Given the description of an element on the screen output the (x, y) to click on. 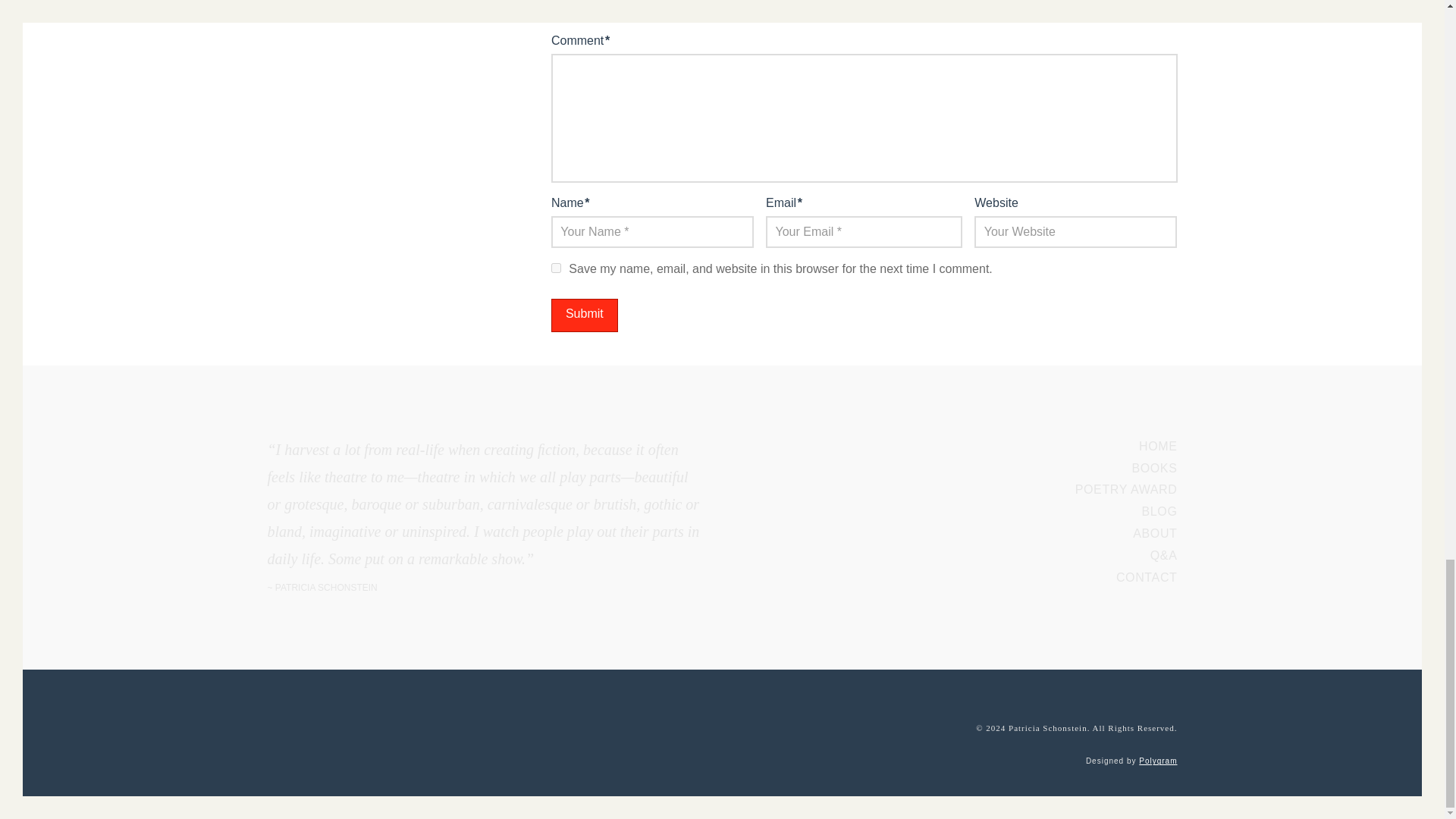
Submit (584, 315)
Home (1153, 468)
Home (1157, 445)
yes (555, 267)
Home (1158, 511)
Home (1126, 489)
Polygram (1157, 760)
Home (1146, 576)
Home (1163, 554)
Home (1154, 533)
